Given the description of an element on the screen output the (x, y) to click on. 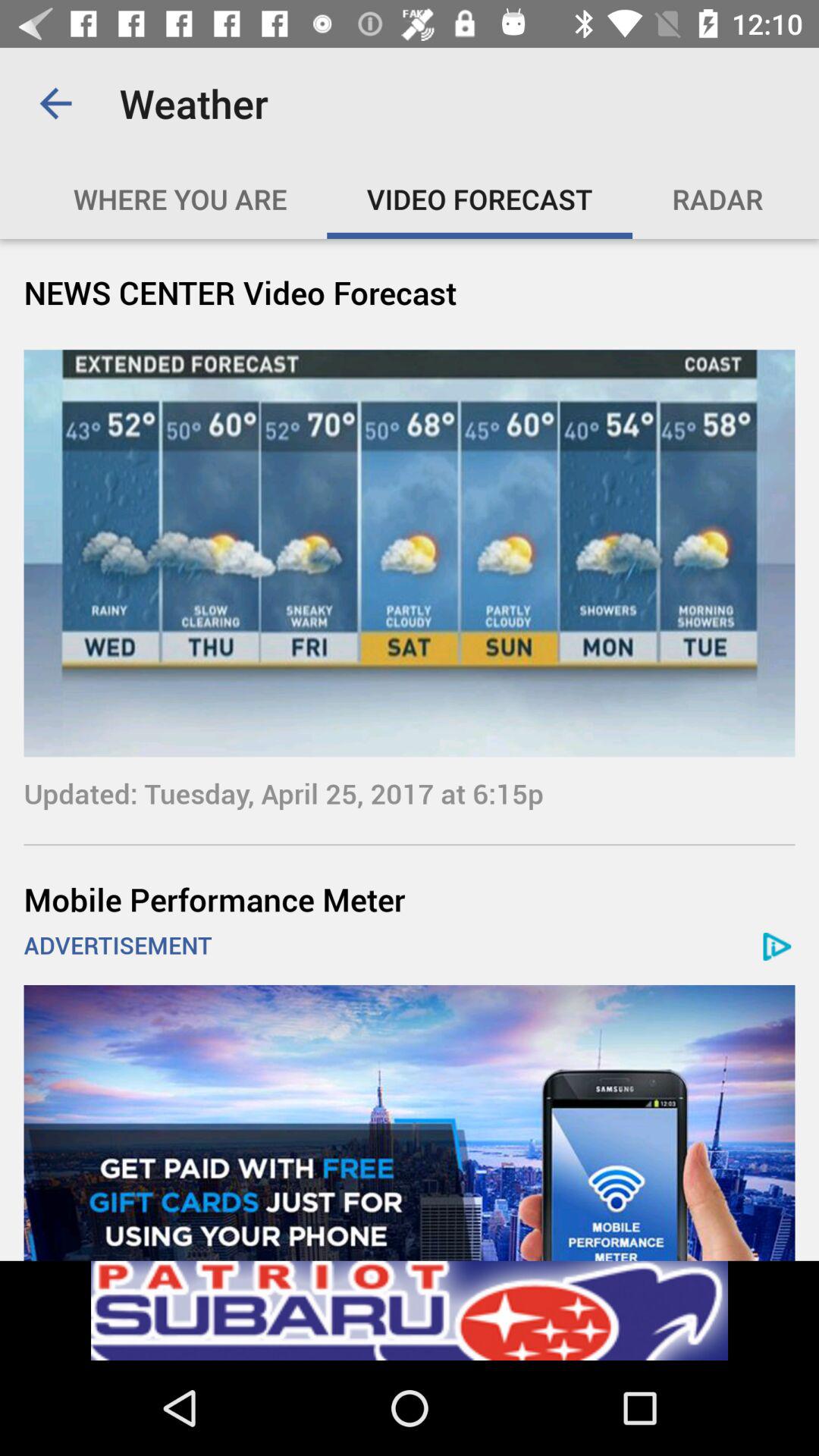
click on advertisement (409, 1122)
